Given the description of an element on the screen output the (x, y) to click on. 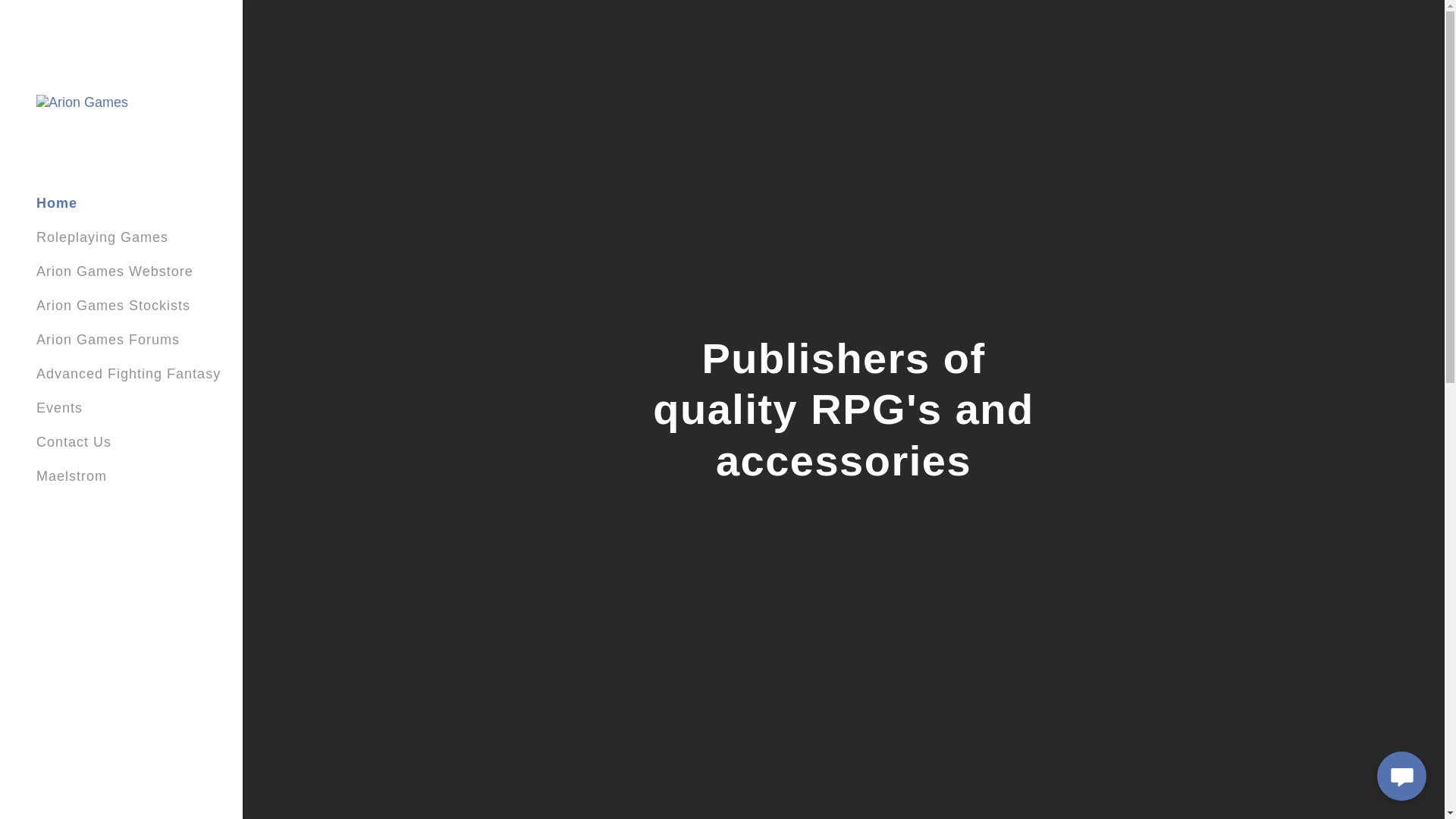
Advanced Fighting Fantasy (128, 373)
Home (56, 202)
Roleplaying Games (102, 237)
Contact Us (74, 441)
Events (59, 407)
Maelstrom (71, 476)
Arion Games Forums (107, 339)
Arion Games (82, 101)
Arion Games Webstore (114, 271)
Arion Games Stockists (113, 305)
